Given the description of an element on the screen output the (x, y) to click on. 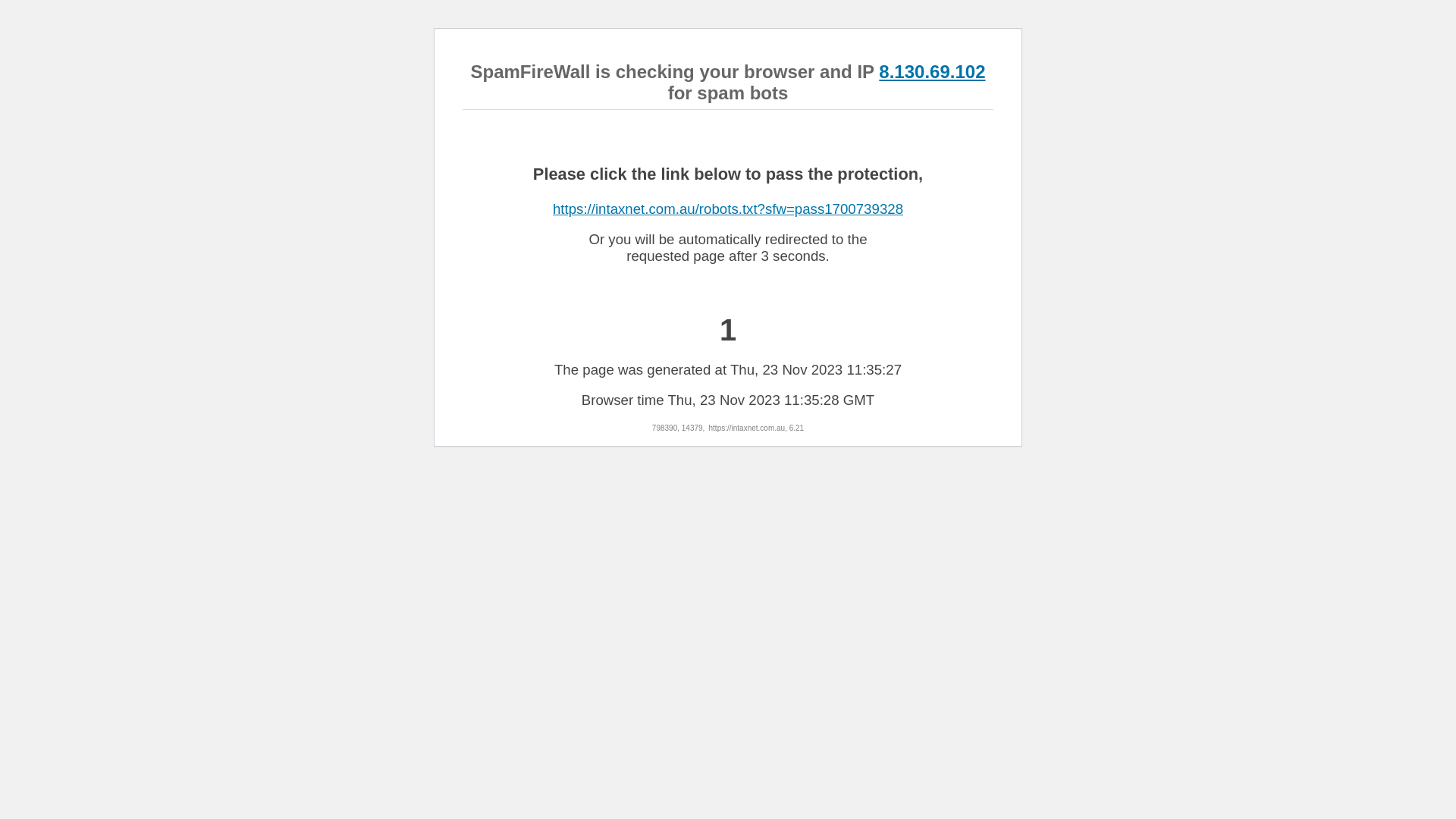
8.130.69.102 Element type: text (931, 71)
https://intaxnet.com.au/robots.txt?sfw=pass1700739320 Element type: text (727, 208)
